Given the description of an element on the screen output the (x, y) to click on. 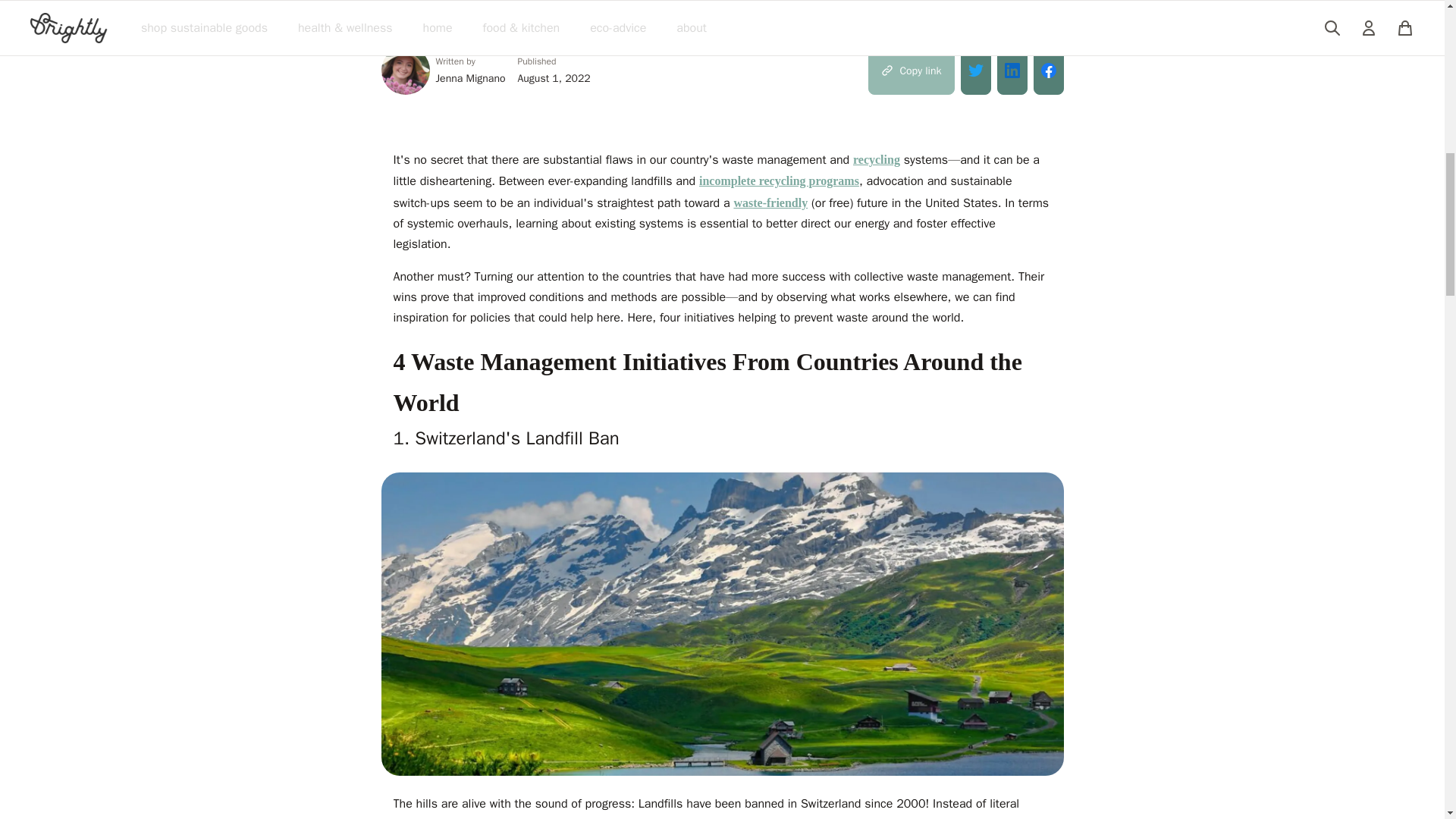
recycling (876, 159)
incomplete recycling programs (778, 180)
Copy link (910, 70)
waste-friendly (770, 202)
